Given the description of an element on the screen output the (x, y) to click on. 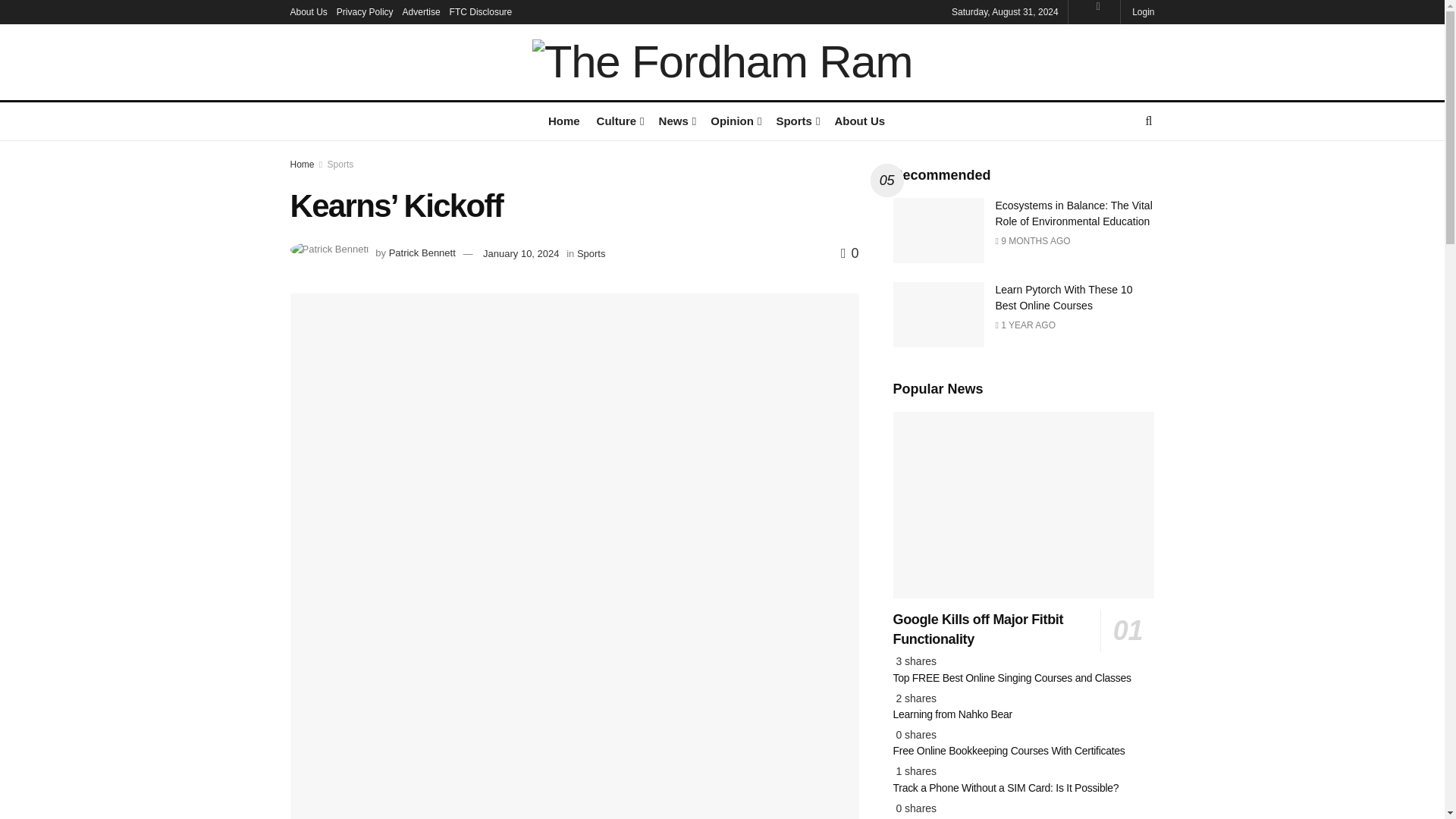
About Us (307, 12)
FTC Disclosure (480, 12)
Culture (619, 120)
Privacy Policy (364, 12)
Advertise (422, 12)
News (676, 120)
Opinion (734, 120)
Home (563, 120)
Sports (796, 120)
Login (1141, 12)
